Given the description of an element on the screen output the (x, y) to click on. 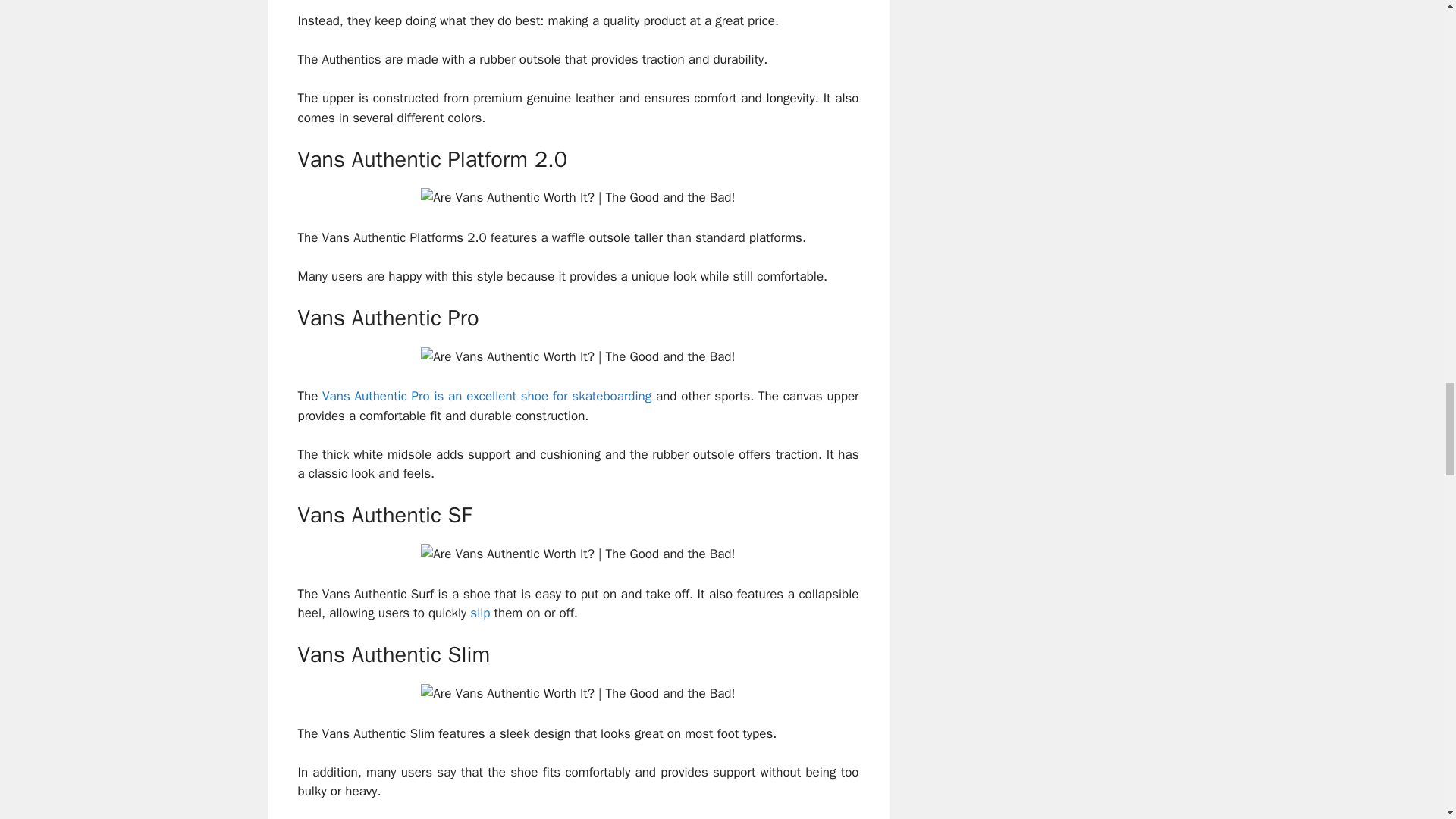
slip (479, 612)
Vans Authentic Pro is an excellent shoe for skateboarding (485, 396)
